Given the description of an element on the screen output the (x, y) to click on. 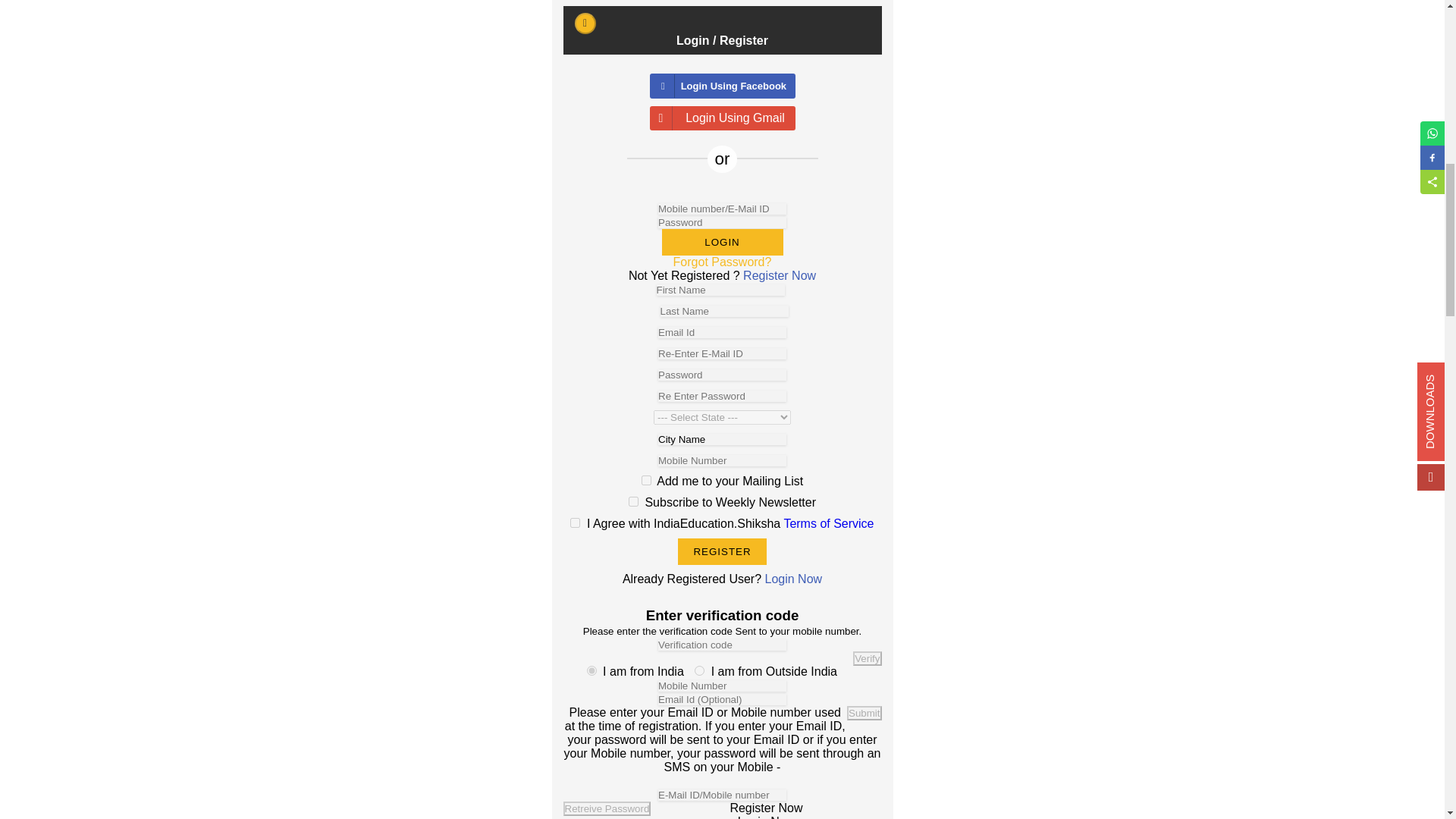
on (574, 522)
on (646, 480)
1 (699, 670)
Click to Register (721, 551)
0 (591, 670)
on (633, 501)
Click to Login (722, 242)
City Name (722, 439)
